Given the description of an element on the screen output the (x, y) to click on. 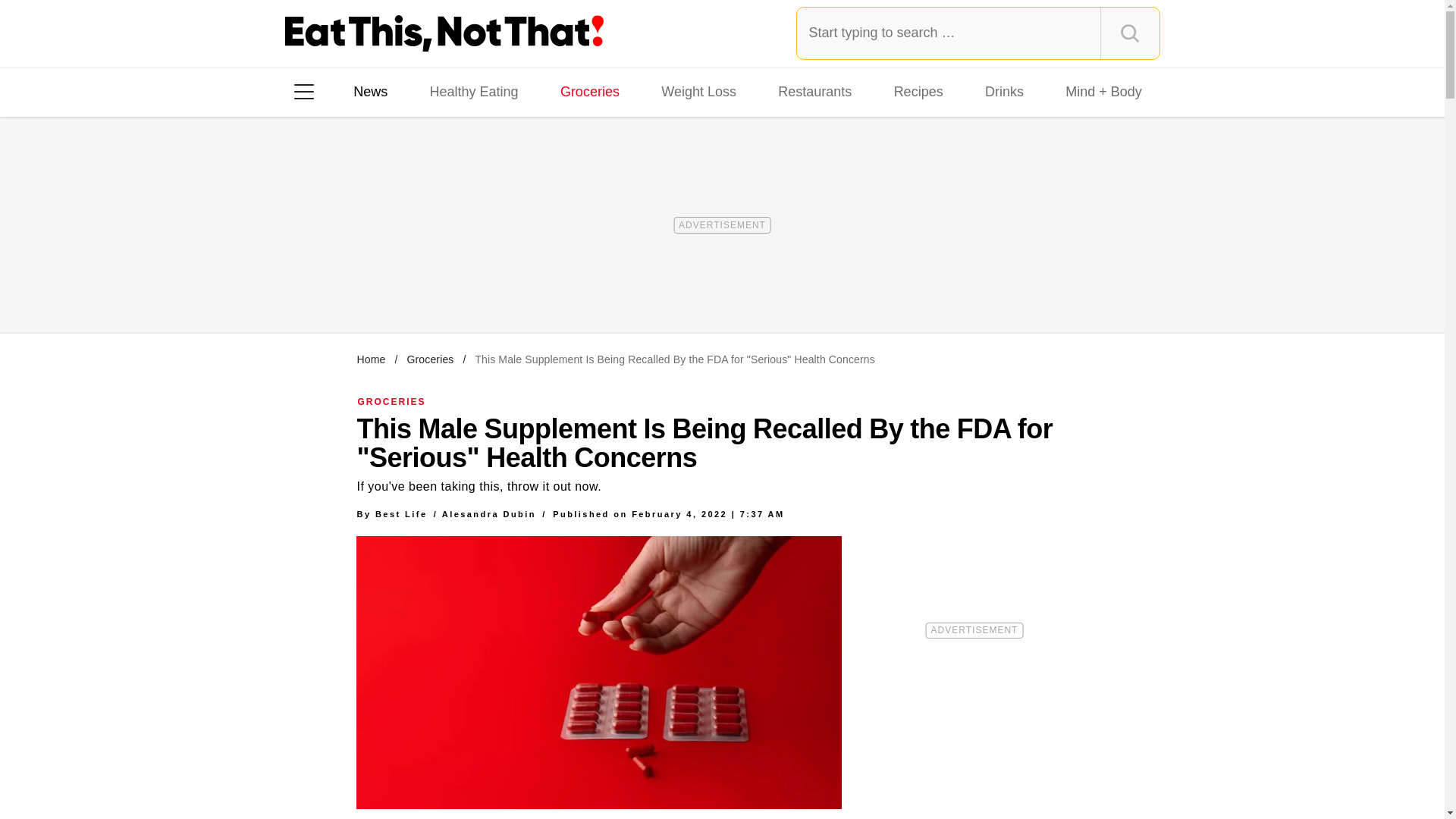
Healthy Eating (473, 91)
Facebook (314, 287)
Best Life (401, 513)
Recipes (918, 91)
Pinterest (443, 287)
Groceries (429, 358)
Groceries (590, 91)
Drinks (1003, 91)
Pinterest (443, 287)
News (370, 91)
Type and press Enter to search (978, 32)
Restaurants (814, 91)
TikTok (399, 287)
Instagram (357, 287)
GROCERIES (392, 401)
